Given the description of an element on the screen output the (x, y) to click on. 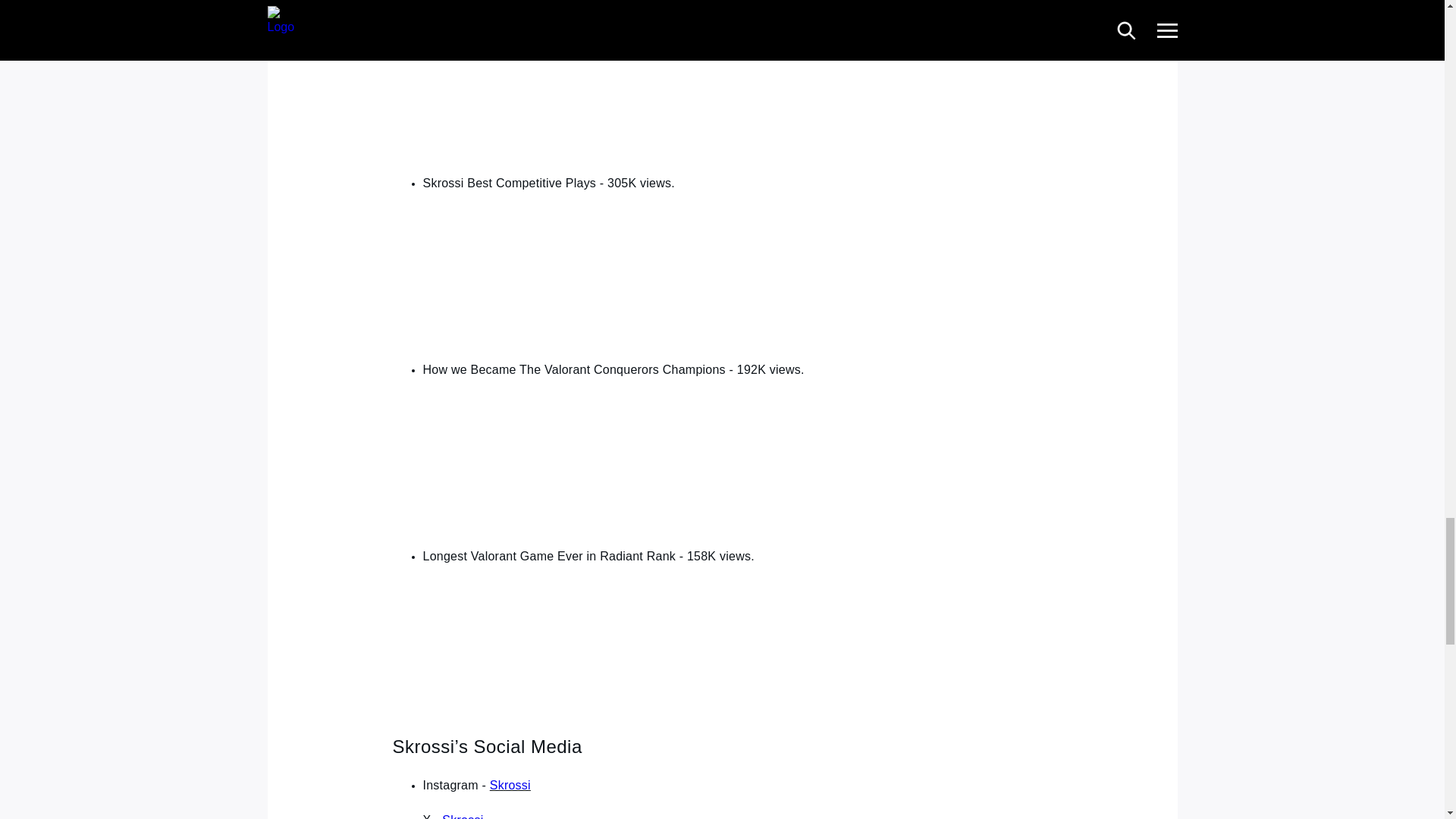
Skrossi (462, 816)
Skrossi (510, 784)
